Given the description of an element on the screen output the (x, y) to click on. 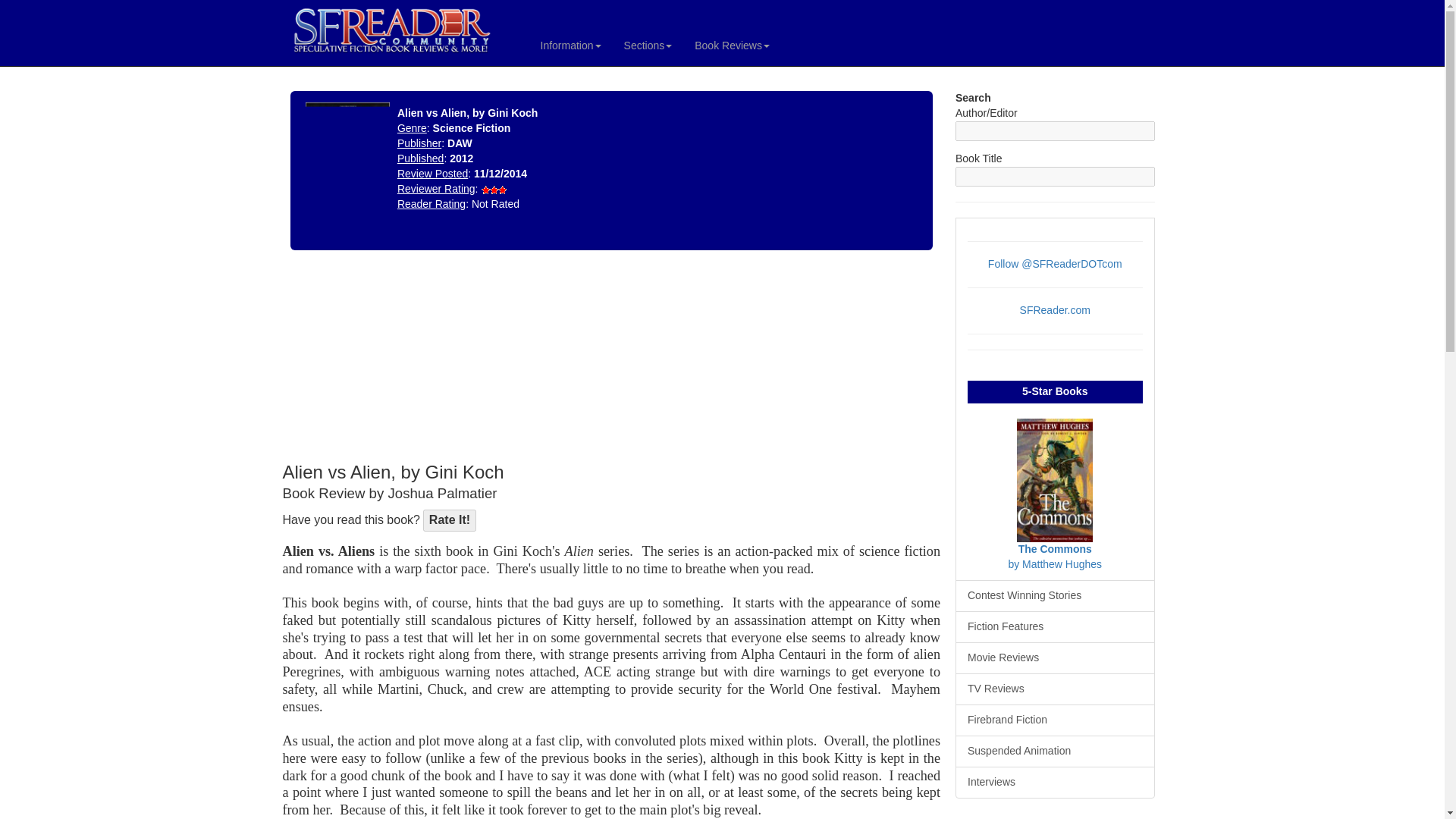
Suspended Animation comic review archives (1054, 751)
Rate It! (449, 520)
Book Reviews (731, 45)
Sections (648, 45)
SFReader Firebrand Fiction archives (1054, 720)
Rate It! (449, 520)
sfreader fiction feature stories (1054, 626)
SFReader author interview archives (1054, 782)
Information (570, 45)
Advertisement (392, 360)
